Given the description of an element on the screen output the (x, y) to click on. 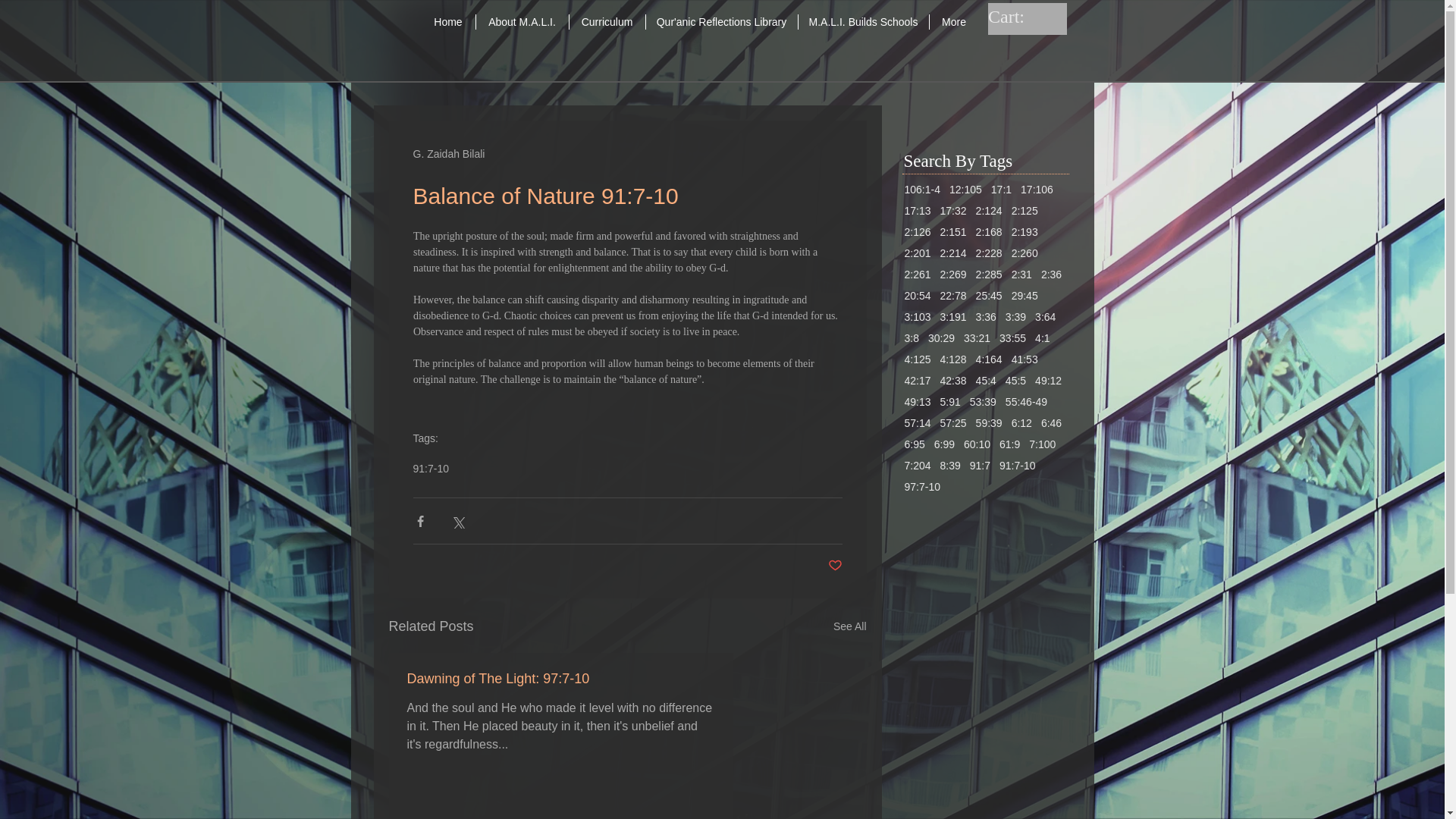
Dawning of The Light: 97:7-10 (560, 678)
2:269 (953, 274)
G. Zaidah Bilali (448, 153)
Curriculum (607, 21)
Cart: (1020, 16)
M.A.L.I. Builds Schools (862, 21)
2:201 (917, 253)
12:105 (965, 189)
17:106 (1036, 189)
See All (849, 626)
